Given the description of an element on the screen output the (x, y) to click on. 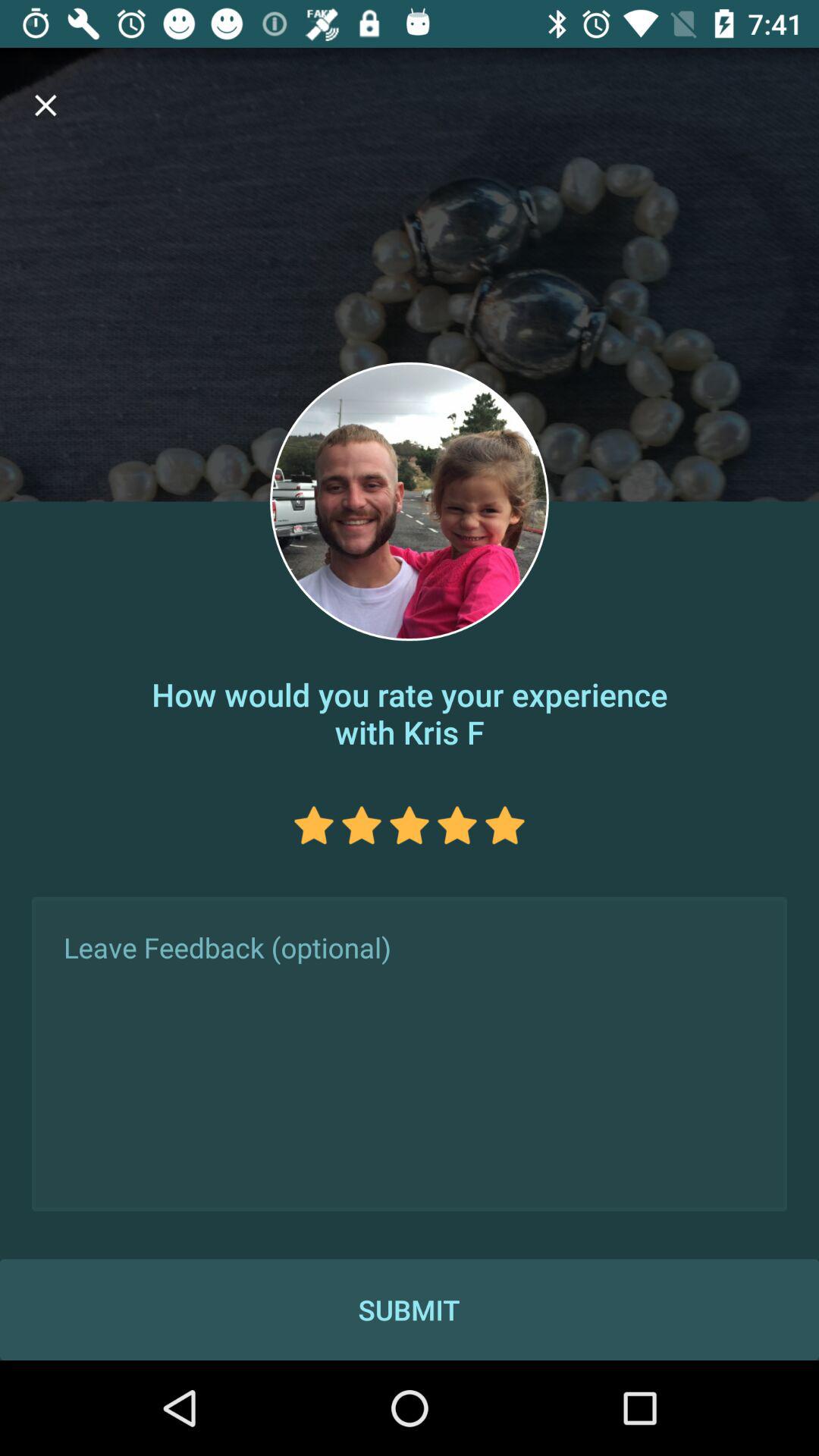
star feedback (313, 825)
